Given the description of an element on the screen output the (x, y) to click on. 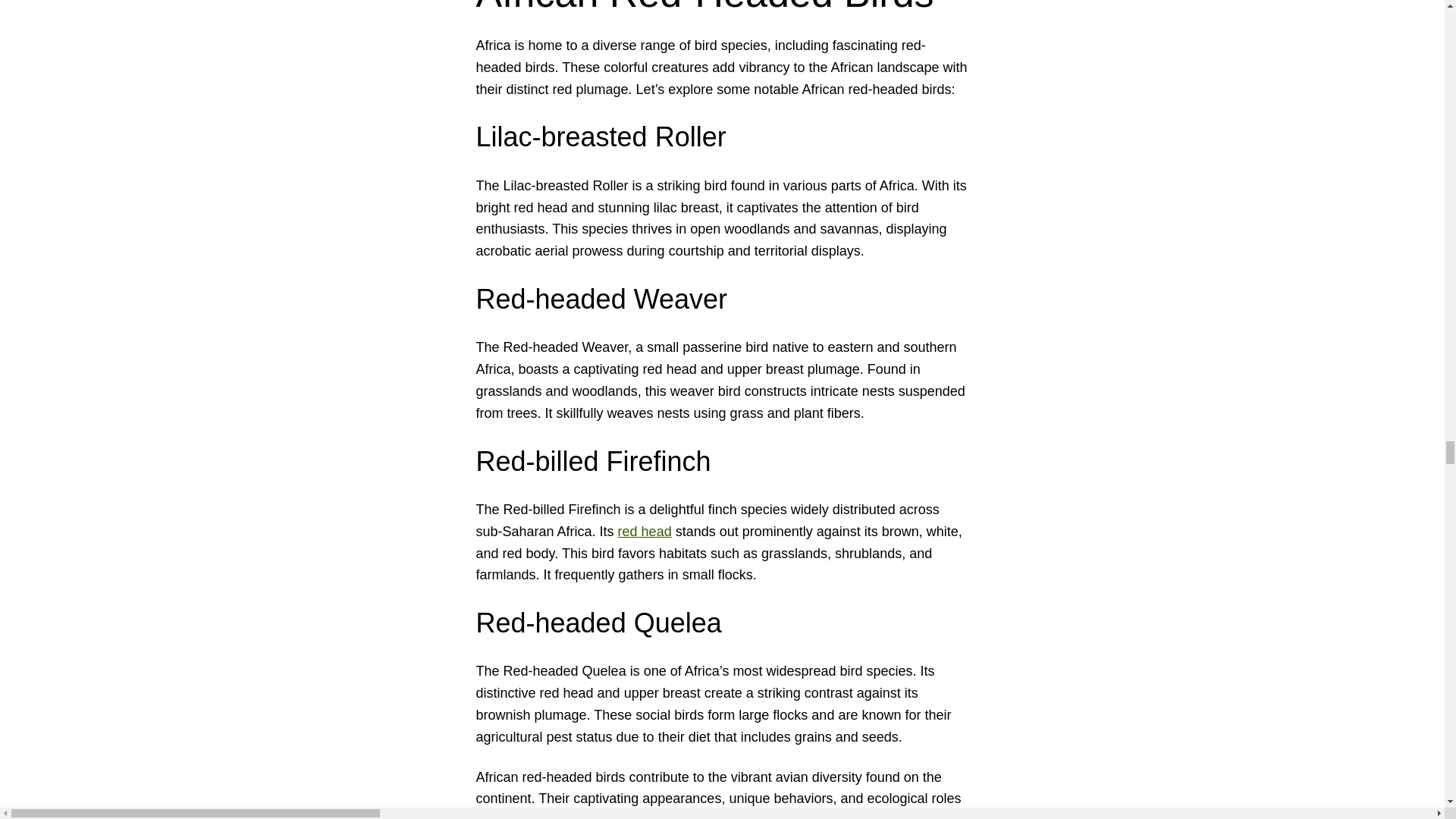
red head (644, 531)
